Given the description of an element on the screen output the (x, y) to click on. 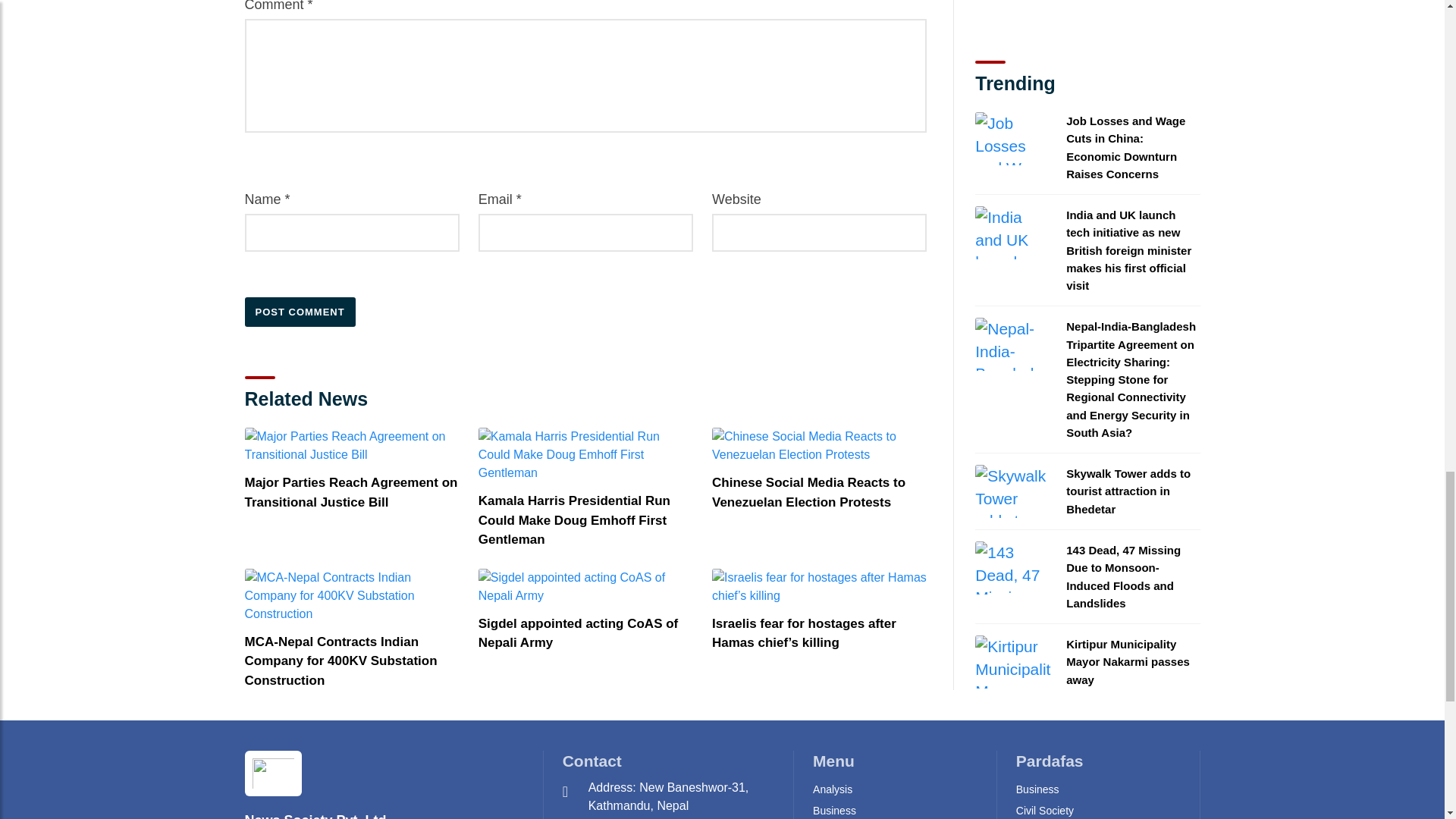
Post Comment (299, 311)
